Given the description of an element on the screen output the (x, y) to click on. 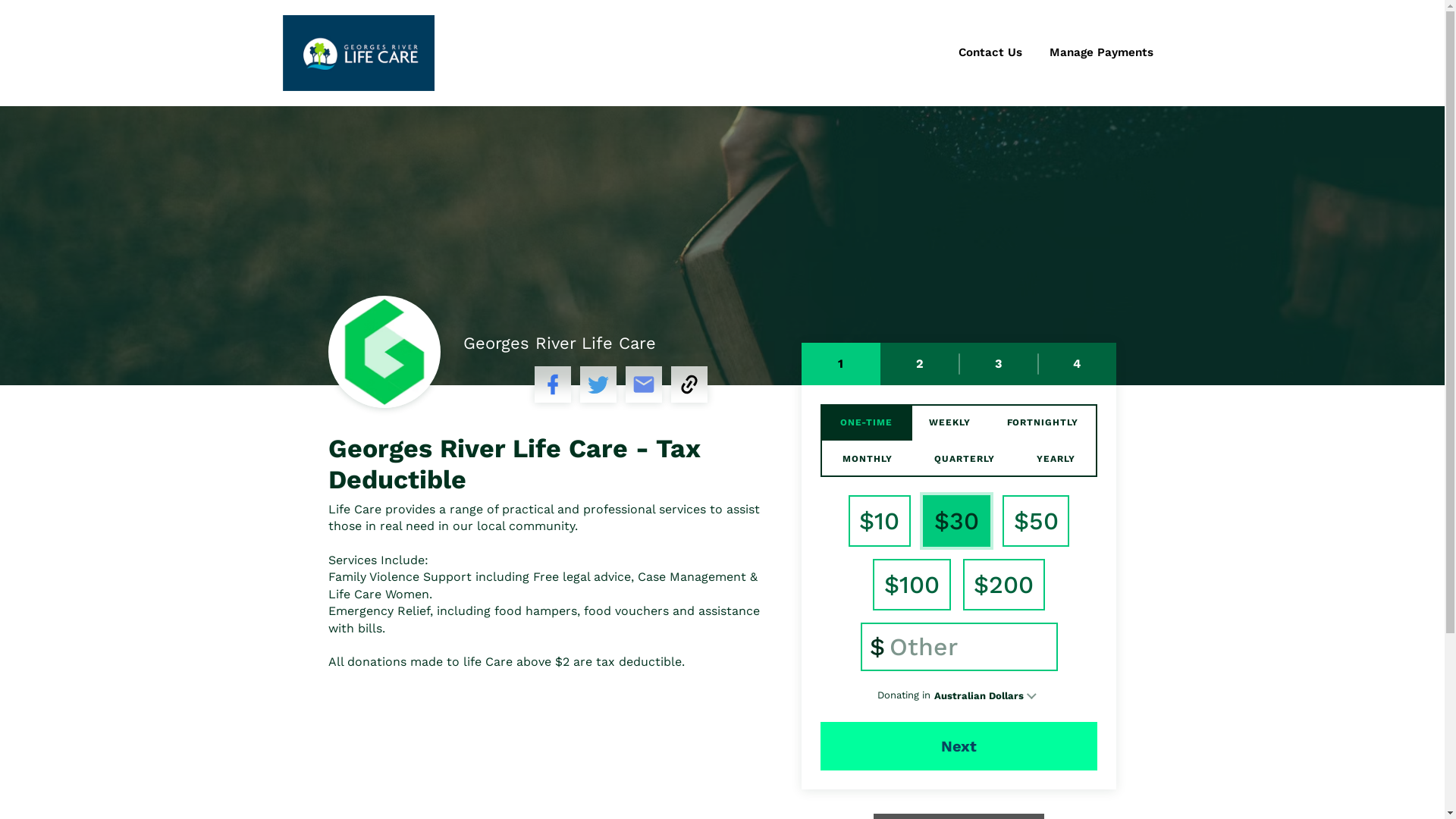
QUARTERLY Element type: text (964, 458)
WEEKLY Element type: text (949, 422)
$30 Element type: text (956, 520)
ONE-TIME Element type: text (866, 422)
$10 Element type: text (879, 520)
YEARLY Element type: text (1055, 458)
$50 Element type: text (1036, 520)
Share Element type: hover (552, 384)
Manage Payments Element type: text (1101, 52)
email Element type: text (643, 384)
MONTHLY Element type: text (867, 458)
Contact Us Element type: text (990, 52)
FORTNIGHTLY Element type: text (1041, 422)
Tweet Element type: hover (598, 384)
$100 Element type: text (911, 584)
Next Element type: text (959, 745)
Copy Link Element type: hover (689, 384)
$200 Element type: text (1004, 584)
